Given the description of an element on the screen output the (x, y) to click on. 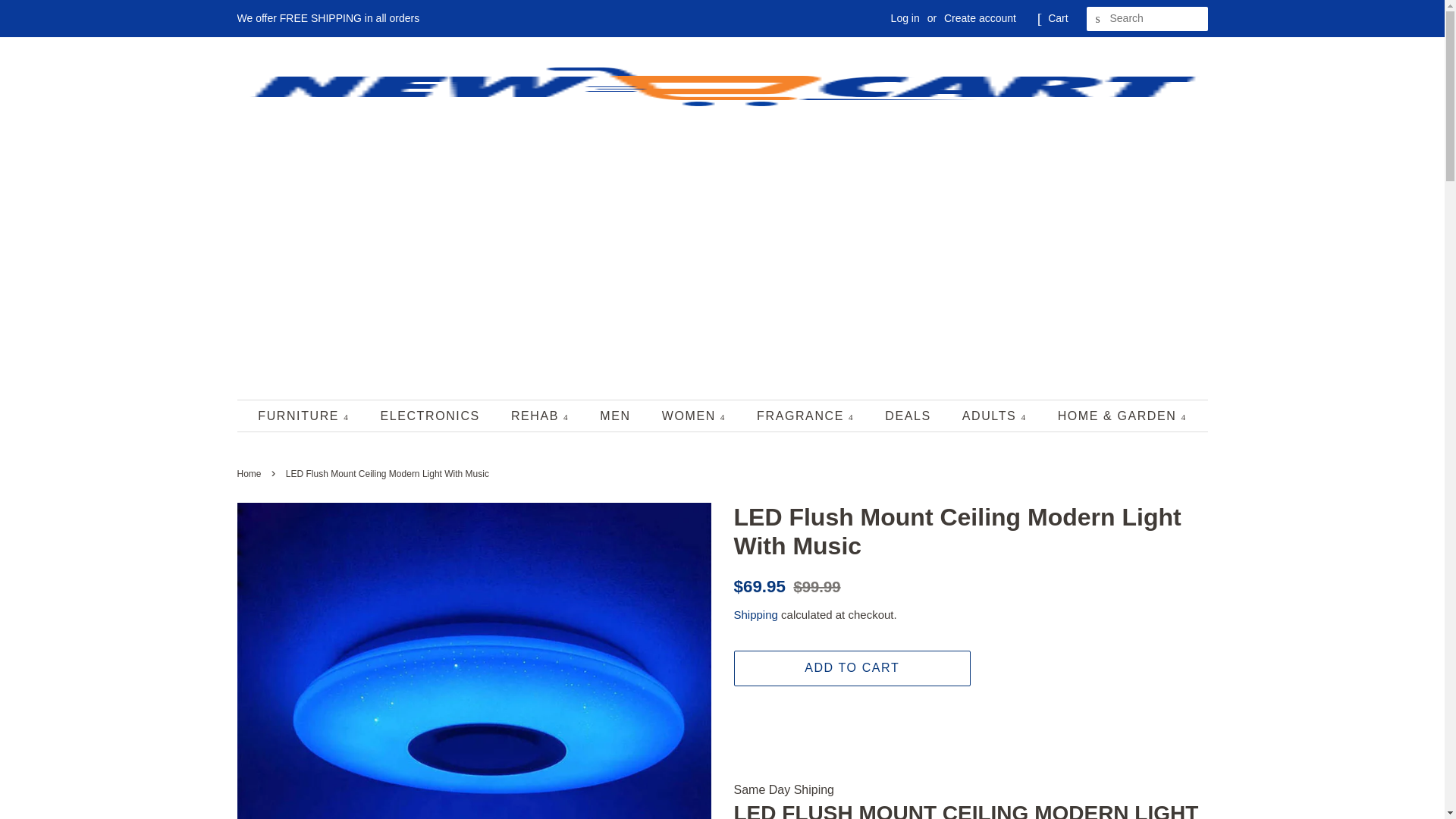
Cart (1057, 18)
Create account (979, 18)
Log in (905, 18)
Back to the frontpage (249, 473)
SEARCH (1097, 18)
